Given the description of an element on the screen output the (x, y) to click on. 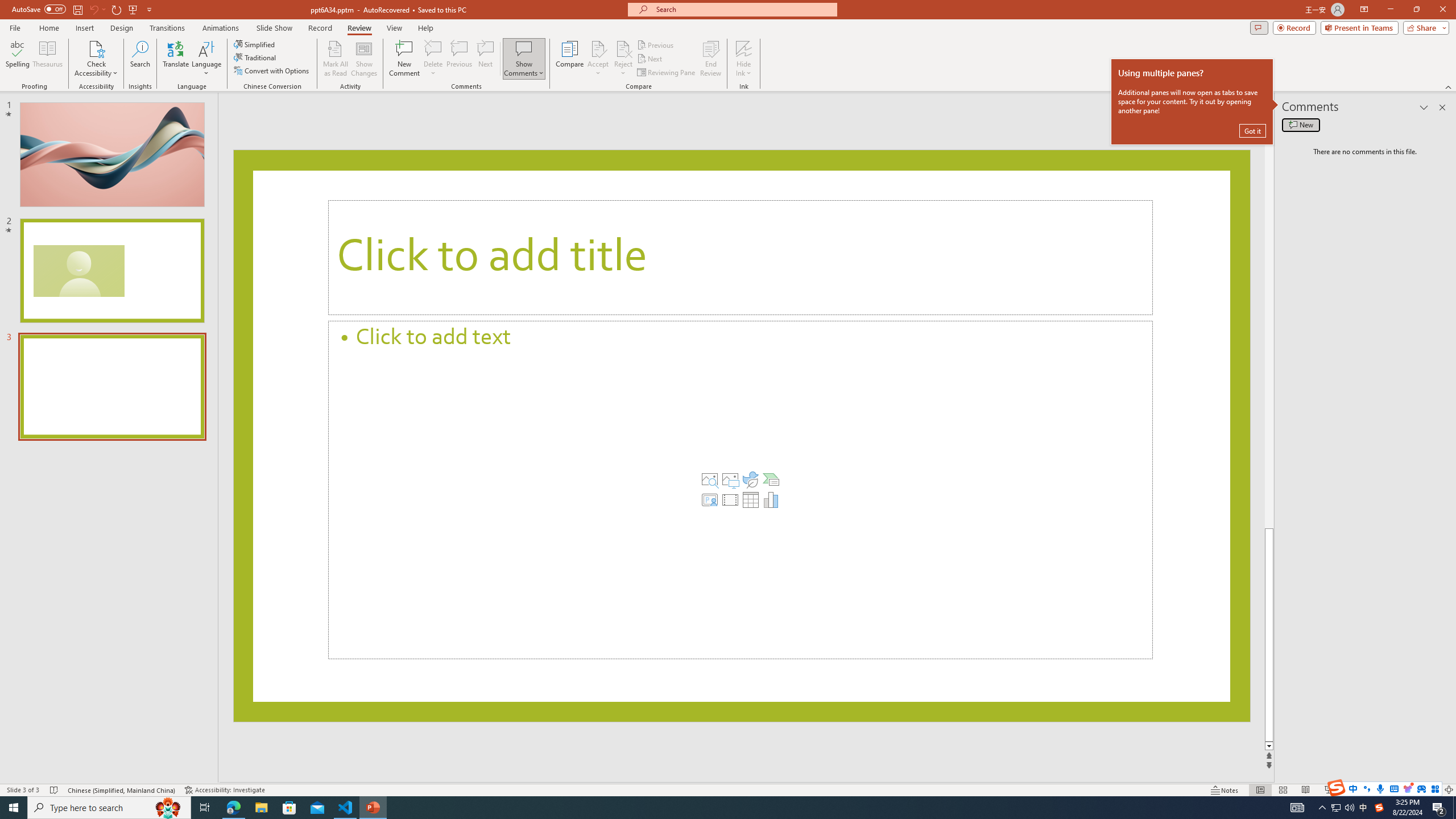
Traditional (255, 56)
